Given the description of an element on the screen output the (x, y) to click on. 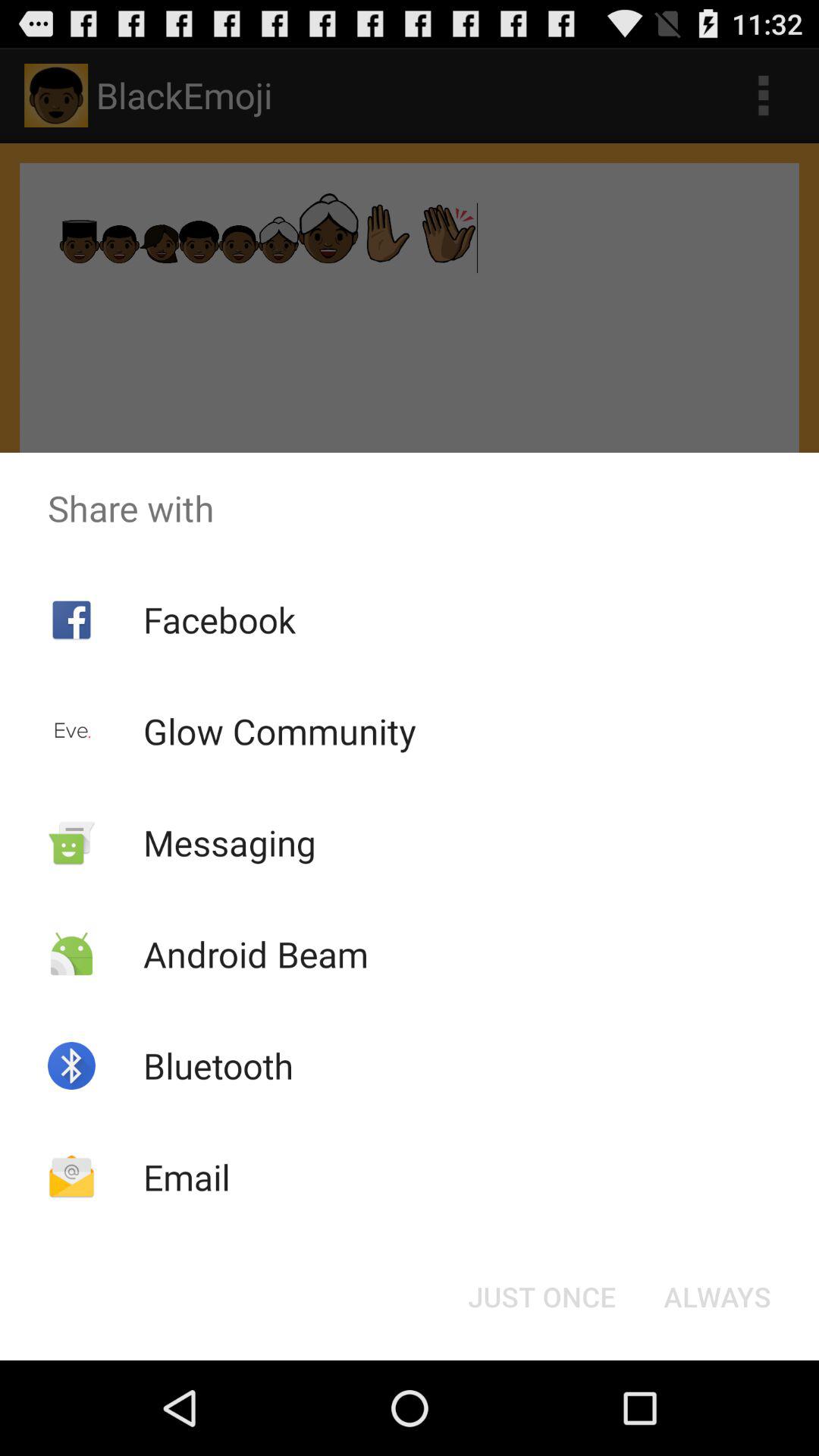
scroll to android beam (255, 953)
